Given the description of an element on the screen output the (x, y) to click on. 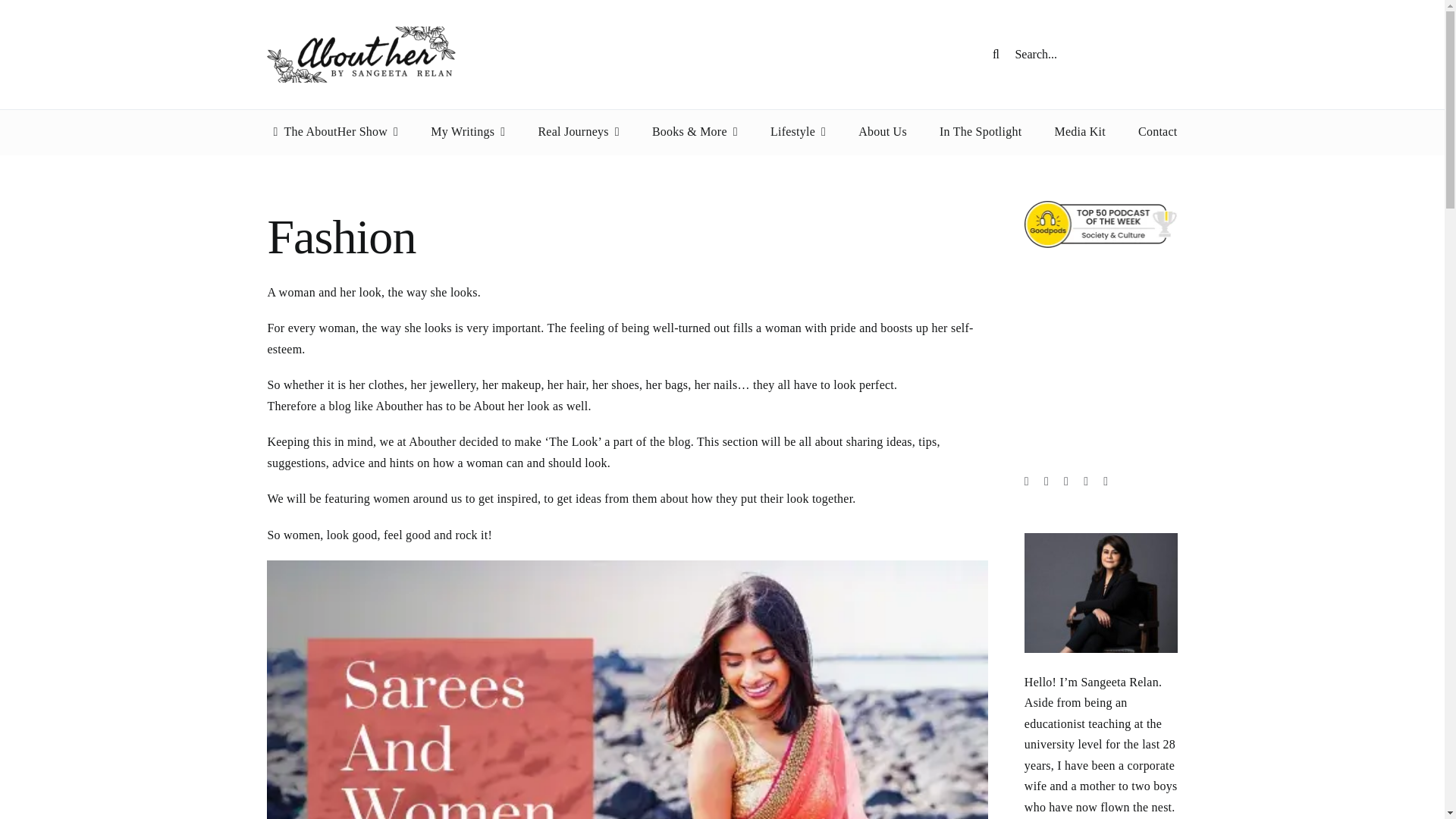
Lifestyle (797, 132)
Real Journeys (577, 132)
My Writings (467, 132)
The AboutHer Show (331, 132)
